Given the description of an element on the screen output the (x, y) to click on. 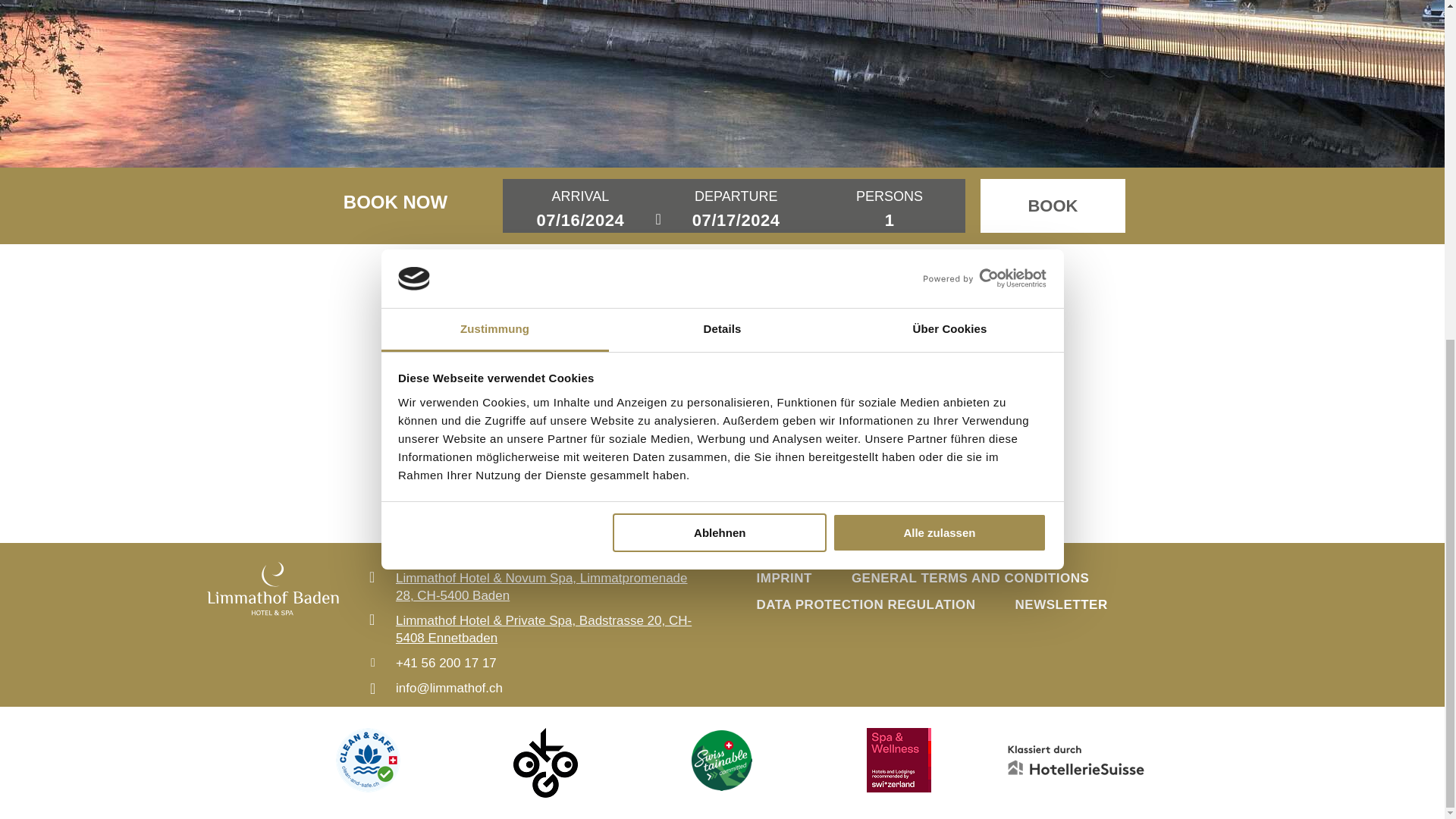
Limmathof Footer (271, 599)
spa vitality small (898, 760)
wellnessdestionation (545, 762)
clean safeCH (368, 760)
hotel CS (721, 760)
